Given the description of an element on the screen output the (x, y) to click on. 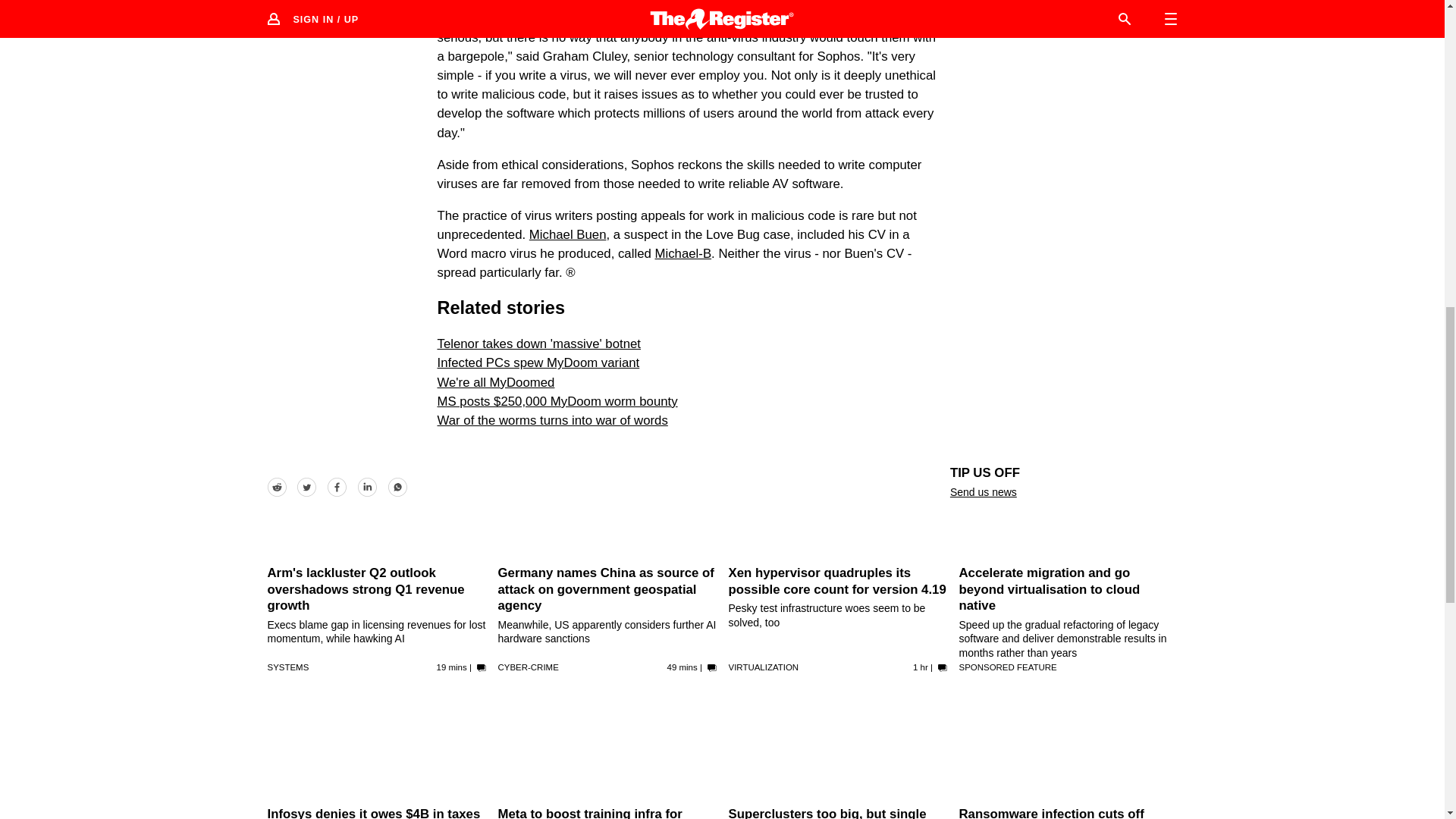
1 Aug 2024 6:30 (451, 666)
1 Aug 2024 5:25 (920, 666)
1 Aug 2024 5:59 (681, 666)
